Given the description of an element on the screen output the (x, y) to click on. 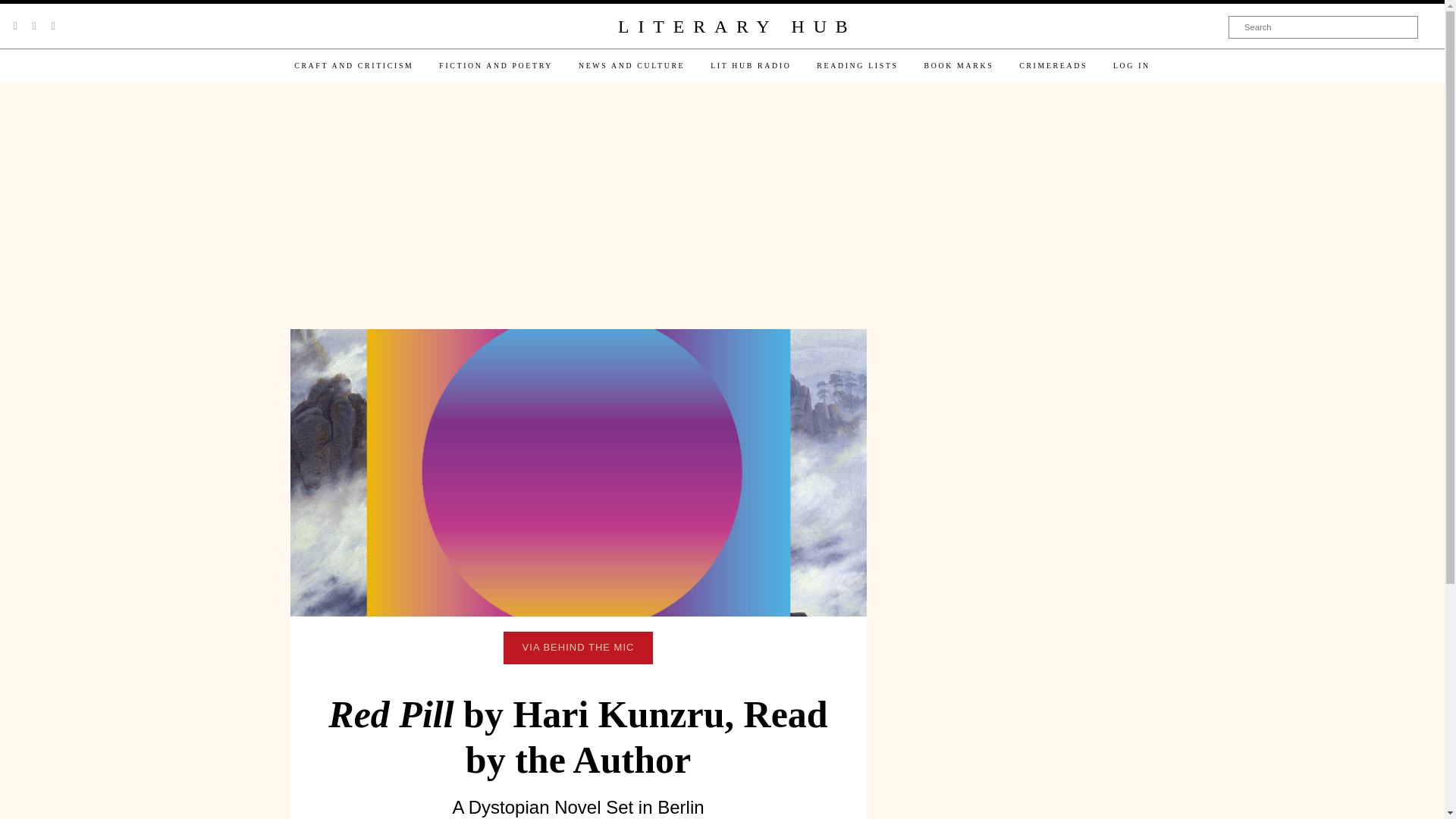
NEWS AND CULTURE (631, 65)
CRAFT AND CRITICISM (353, 65)
LITERARY HUB (736, 26)
FICTION AND POETRY (496, 65)
Search (1323, 26)
